Given the description of an element on the screen output the (x, y) to click on. 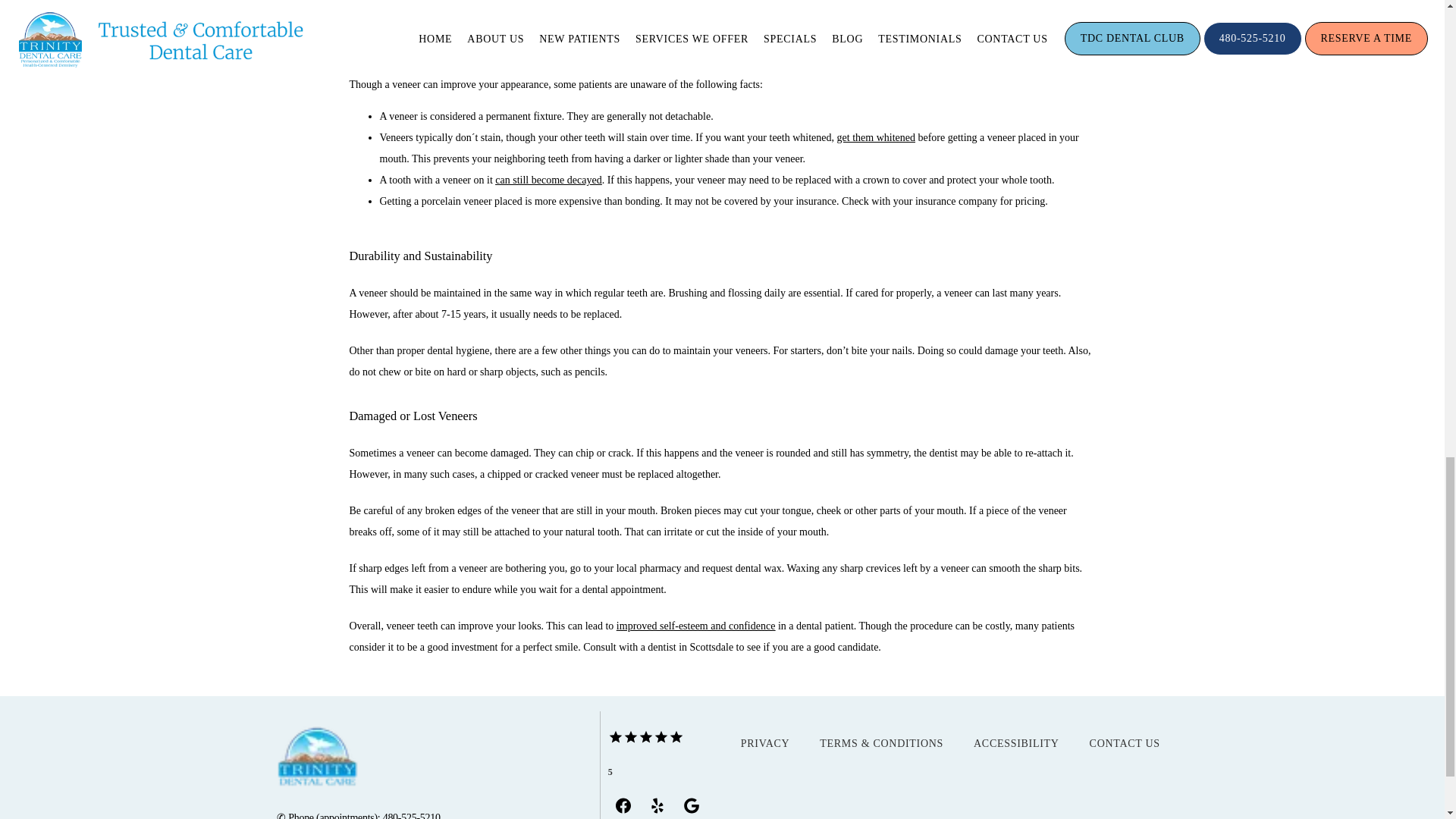
PRIVACY (765, 743)
improved self-esteem and confidence (695, 625)
can still become decayed (548, 179)
CONTACT US (1124, 743)
get them whitened (876, 137)
ACCESSIBILITY (1016, 743)
